Given the description of an element on the screen output the (x, y) to click on. 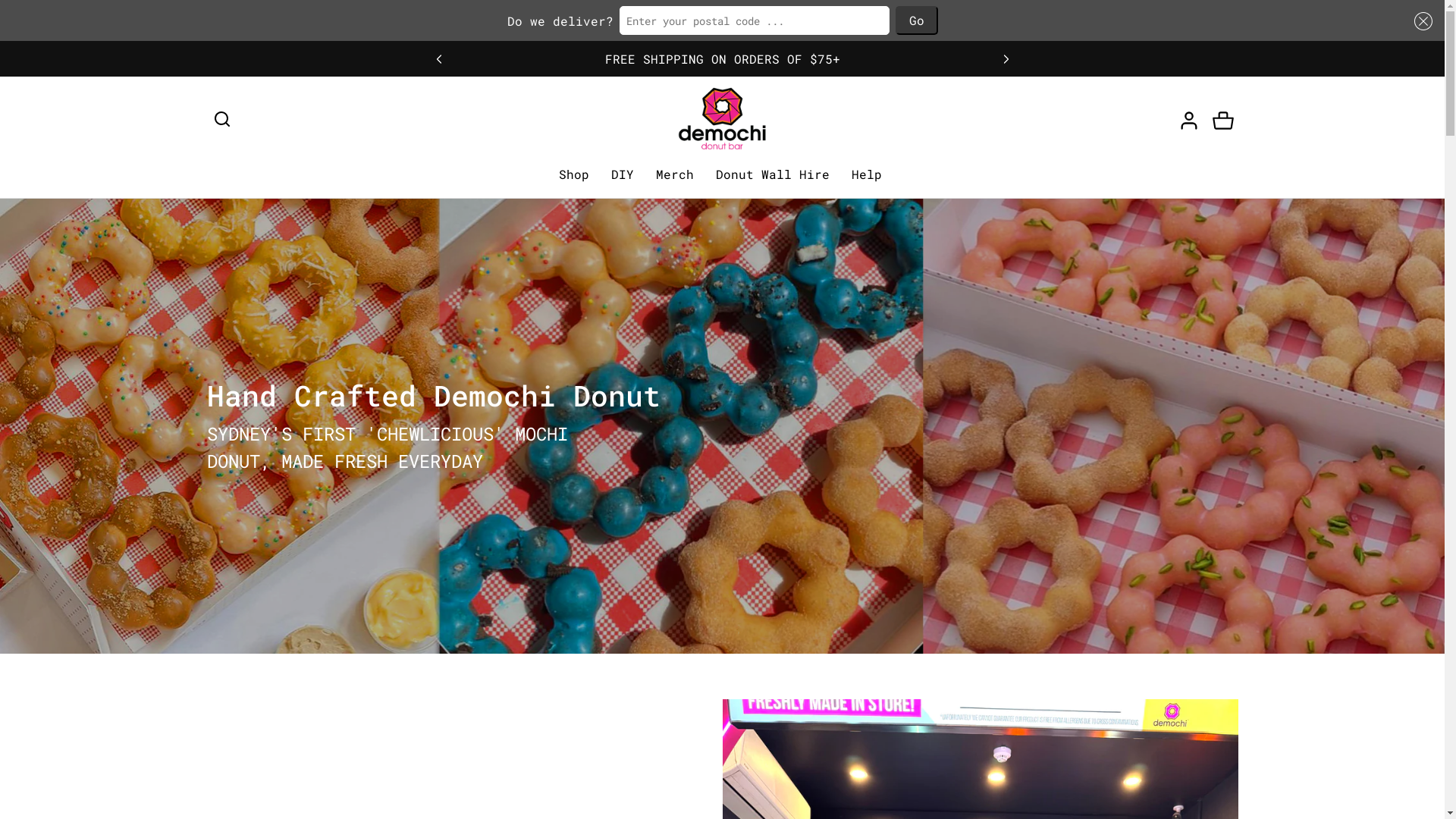
Go Element type: text (915, 20)
Search Element type: hover (221, 118)
Shop Element type: text (575, 173)
Merch Element type: text (676, 173)
Donut Wall Hire Element type: text (774, 173)
Cart Element type: hover (1222, 118)
DIY Element type: text (624, 173)
Help Element type: text (868, 173)
Account Element type: hover (1188, 118)
